Given the description of an element on the screen output the (x, y) to click on. 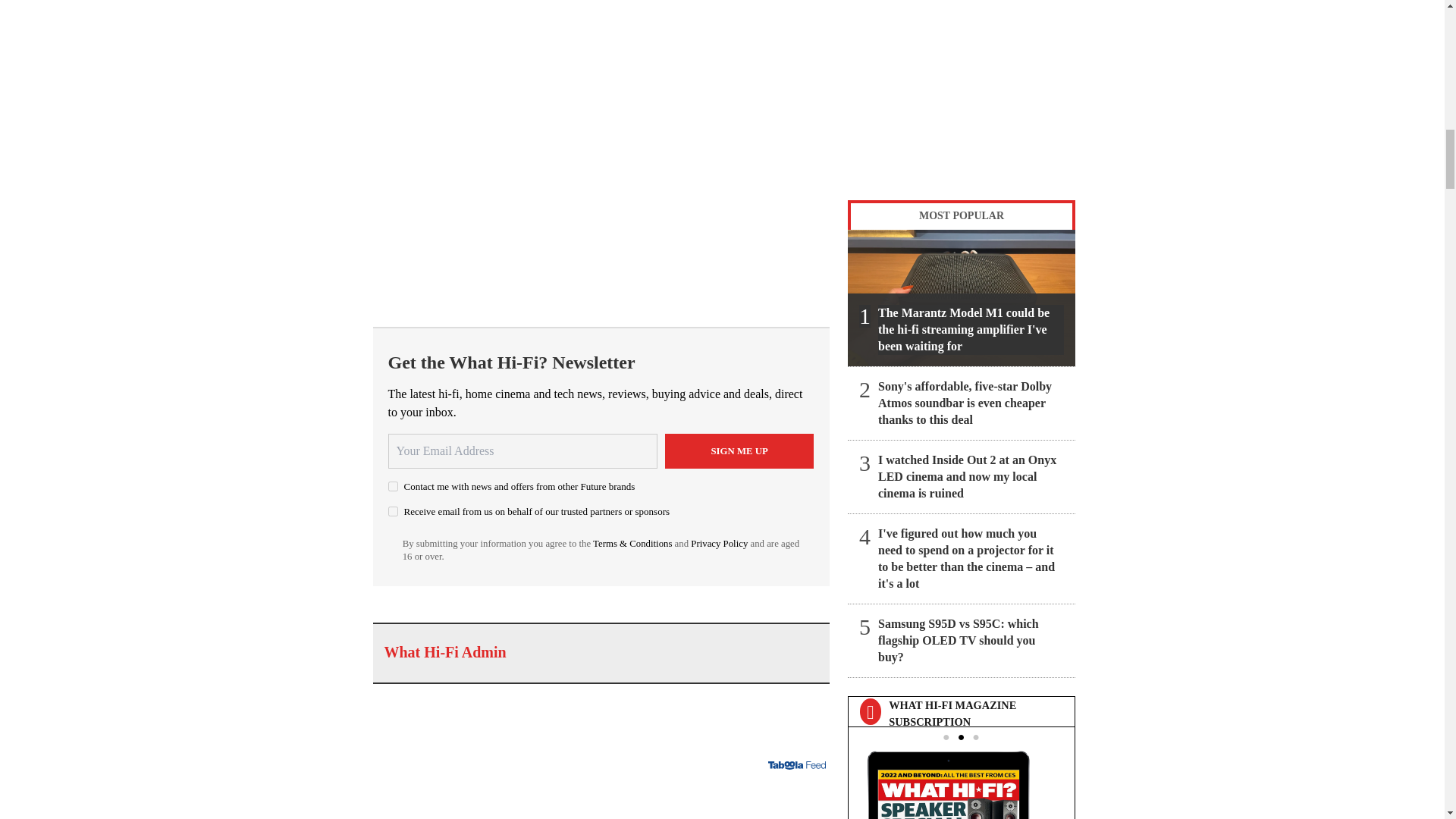
on (392, 486)
on (392, 511)
Sign me up (739, 451)
